Given the description of an element on the screen output the (x, y) to click on. 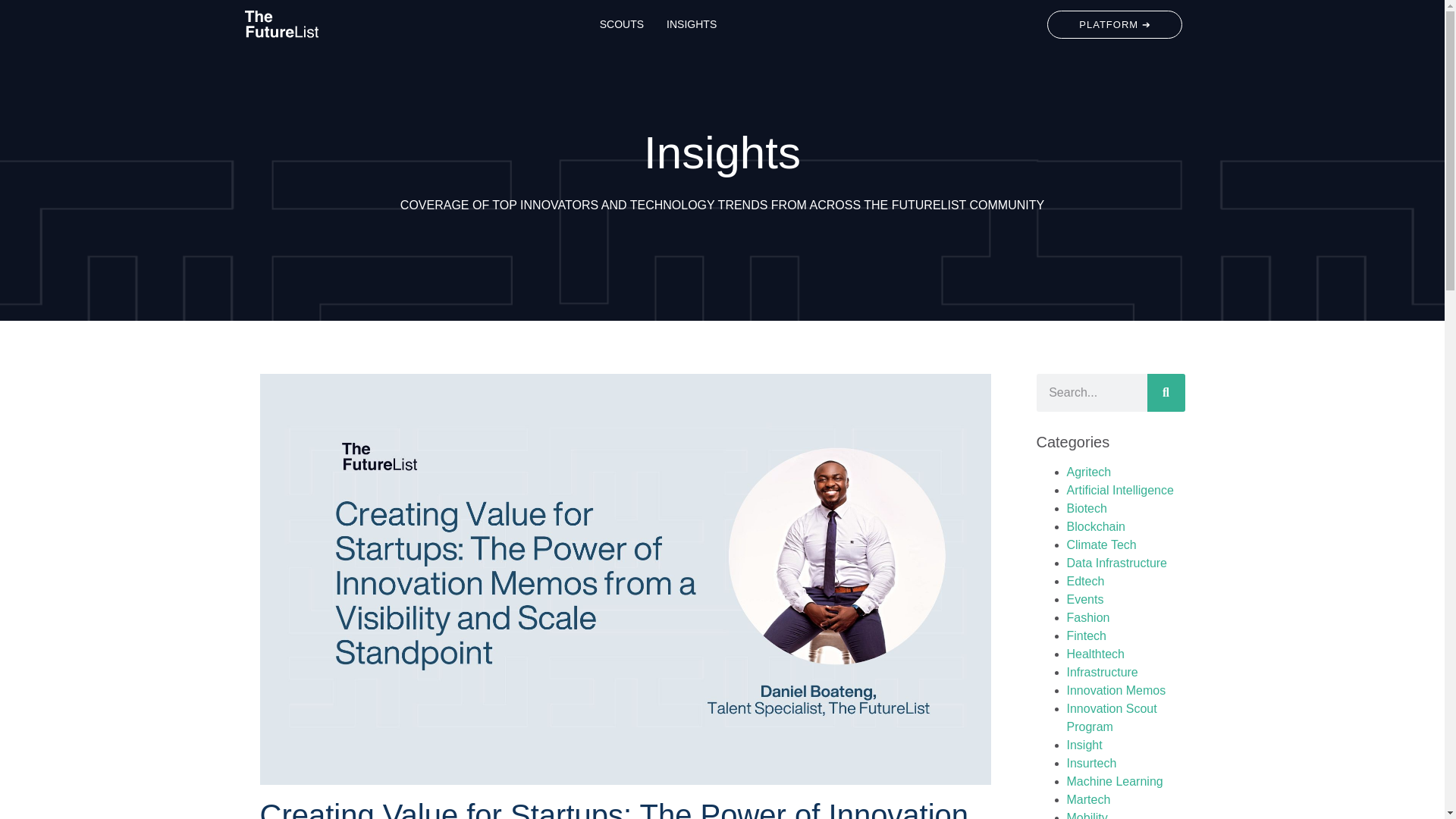
Innovation Memos (1115, 689)
Data Infrastructure (1116, 562)
Insight (1083, 744)
SCOUTS (621, 23)
Insurtech (1090, 762)
Agritech (1087, 472)
Machine Learning (1113, 780)
Mobility (1085, 815)
Edtech (1084, 581)
Biotech (1085, 508)
Healthtech (1094, 653)
Innovation Scout Program (1110, 717)
Climate Tech (1100, 544)
Infrastructure (1101, 671)
logo-futurelist (280, 23)
